Given the description of an element on the screen output the (x, y) to click on. 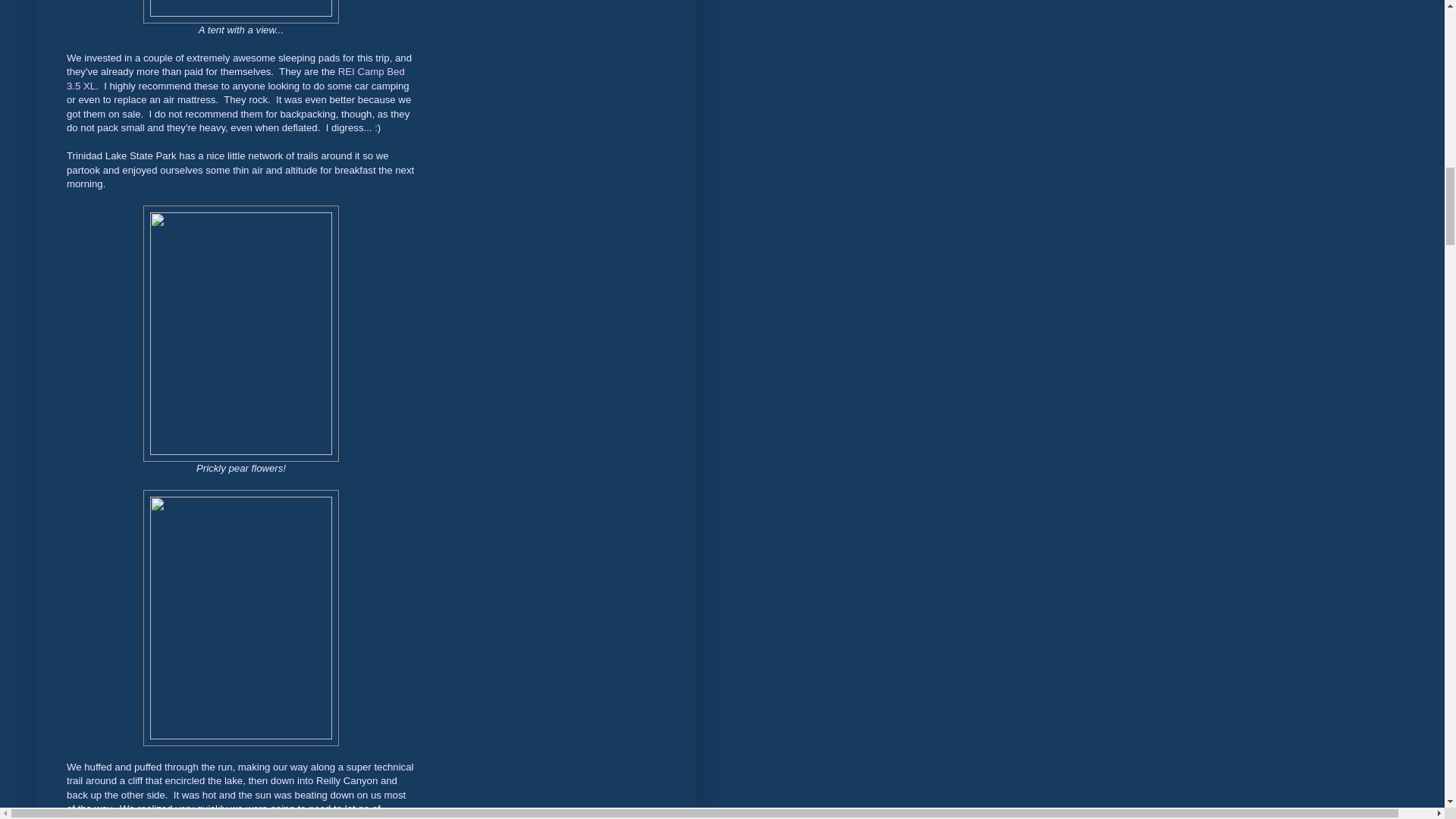
REI Camp Bed 3.5 XL (235, 78)
